Given the description of an element on the screen output the (x, y) to click on. 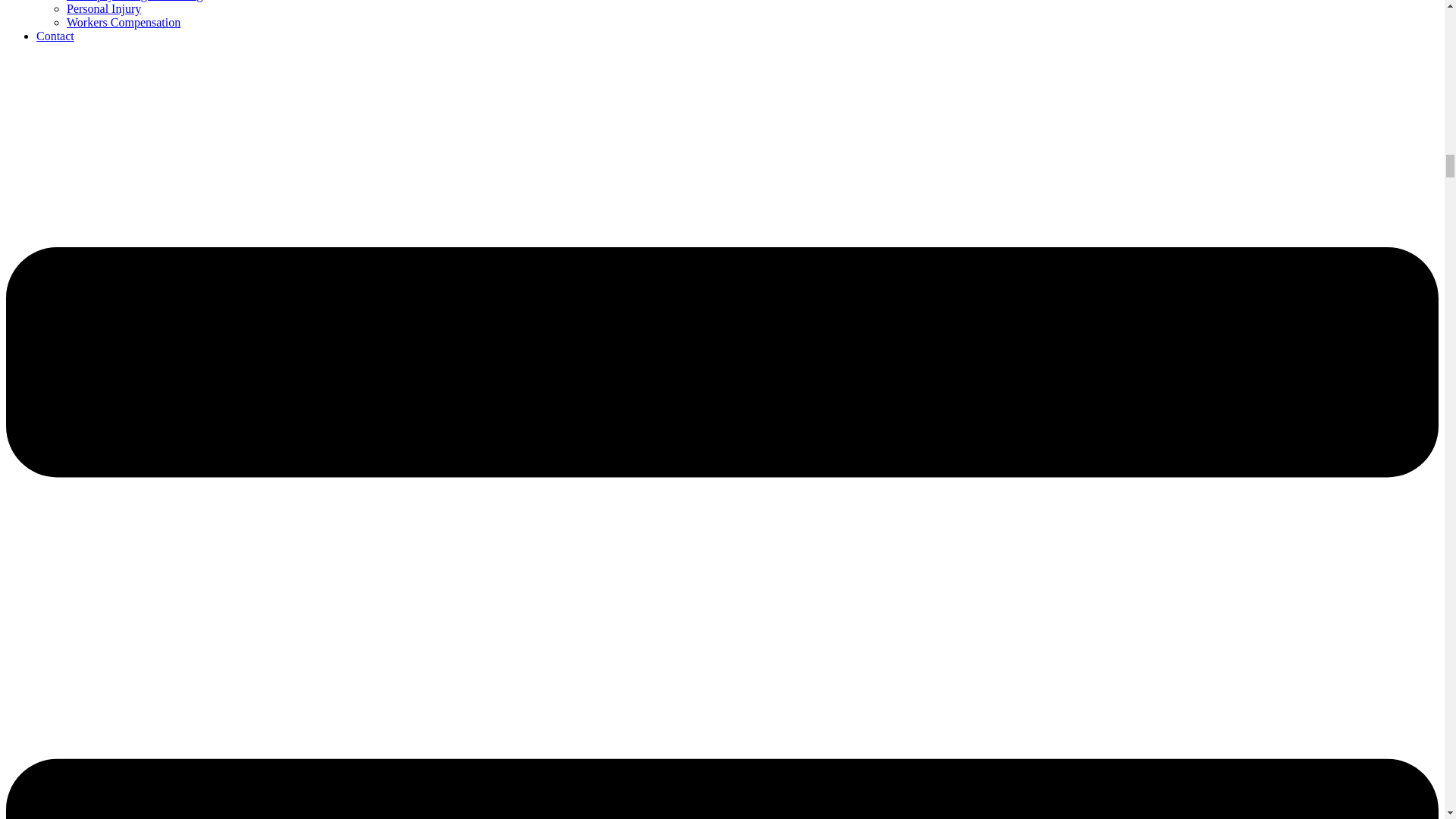
Personal Injury (103, 8)
Neuropsychological Testing (134, 0)
Contact (55, 35)
Workers Compensation (123, 21)
